Given the description of an element on the screen output the (x, y) to click on. 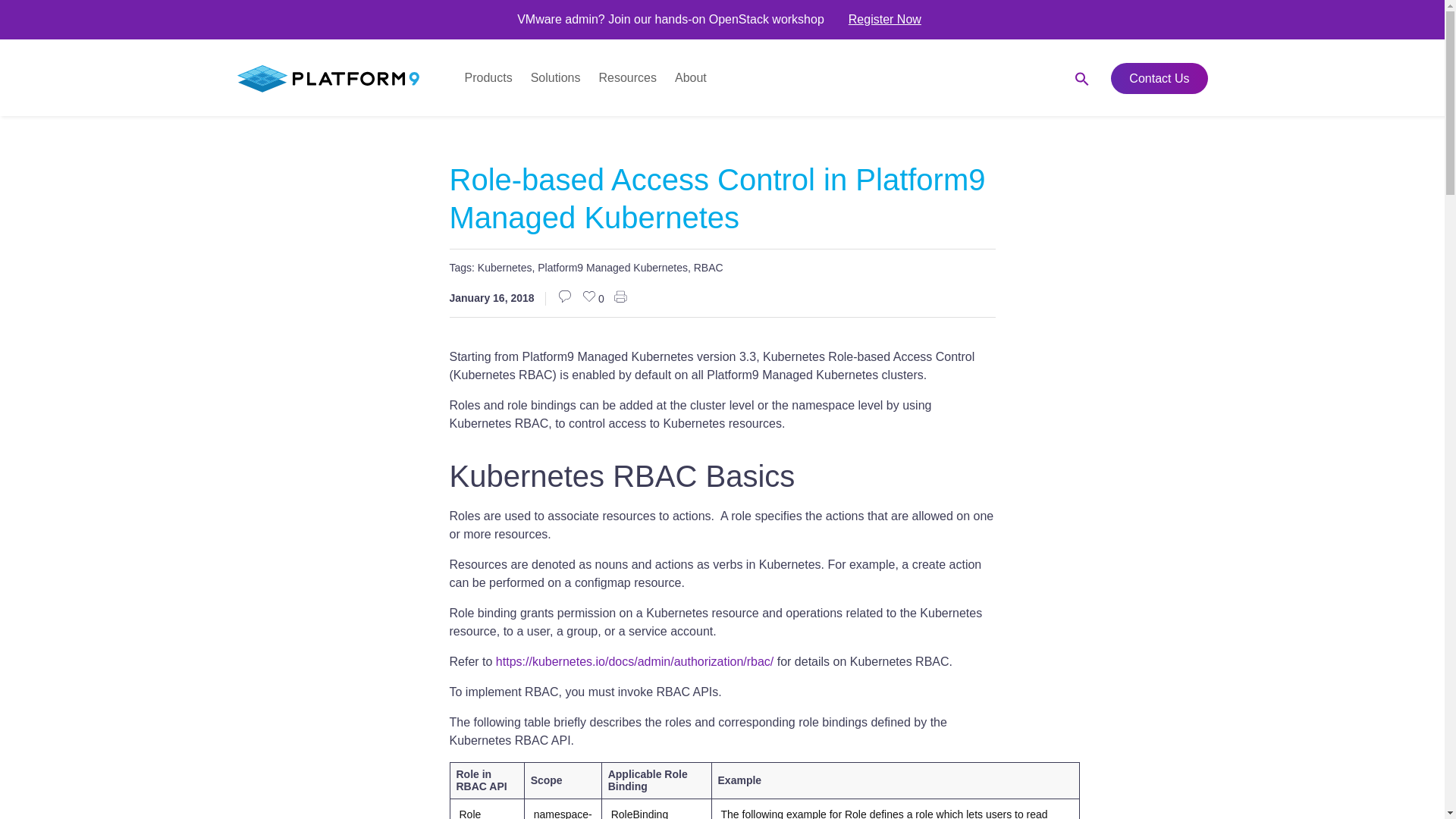
Solutions (555, 77)
About (690, 77)
Products (488, 77)
Resources (627, 77)
Contact Us (1158, 78)
Search (1044, 84)
